Given the description of an element on the screen output the (x, y) to click on. 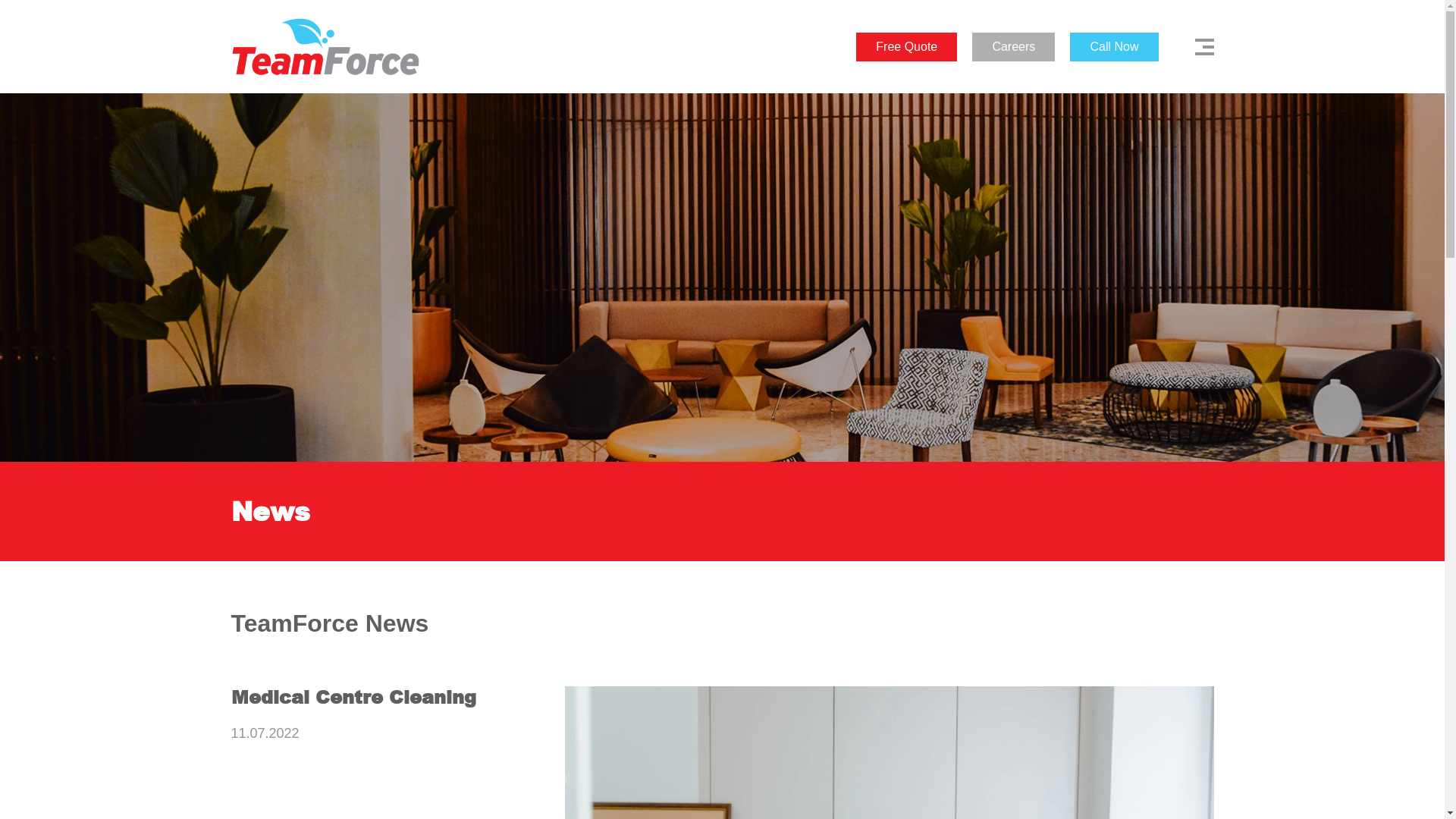
Free Quote Element type: text (906, 45)
Call Now Element type: text (1113, 45)
Careers Element type: text (1013, 45)
